Given the description of an element on the screen output the (x, y) to click on. 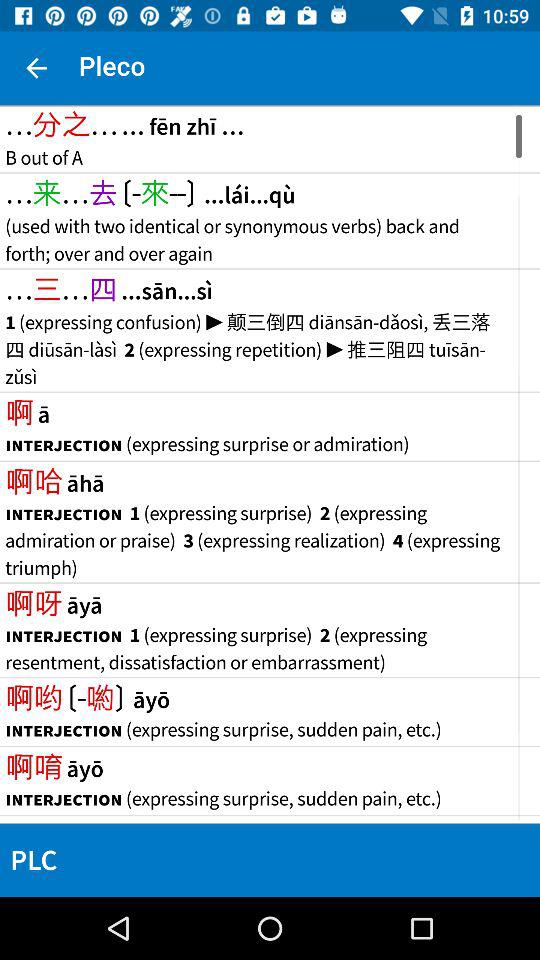
click the item to the left of the pleco icon (36, 68)
